Given the description of an element on the screen output the (x, y) to click on. 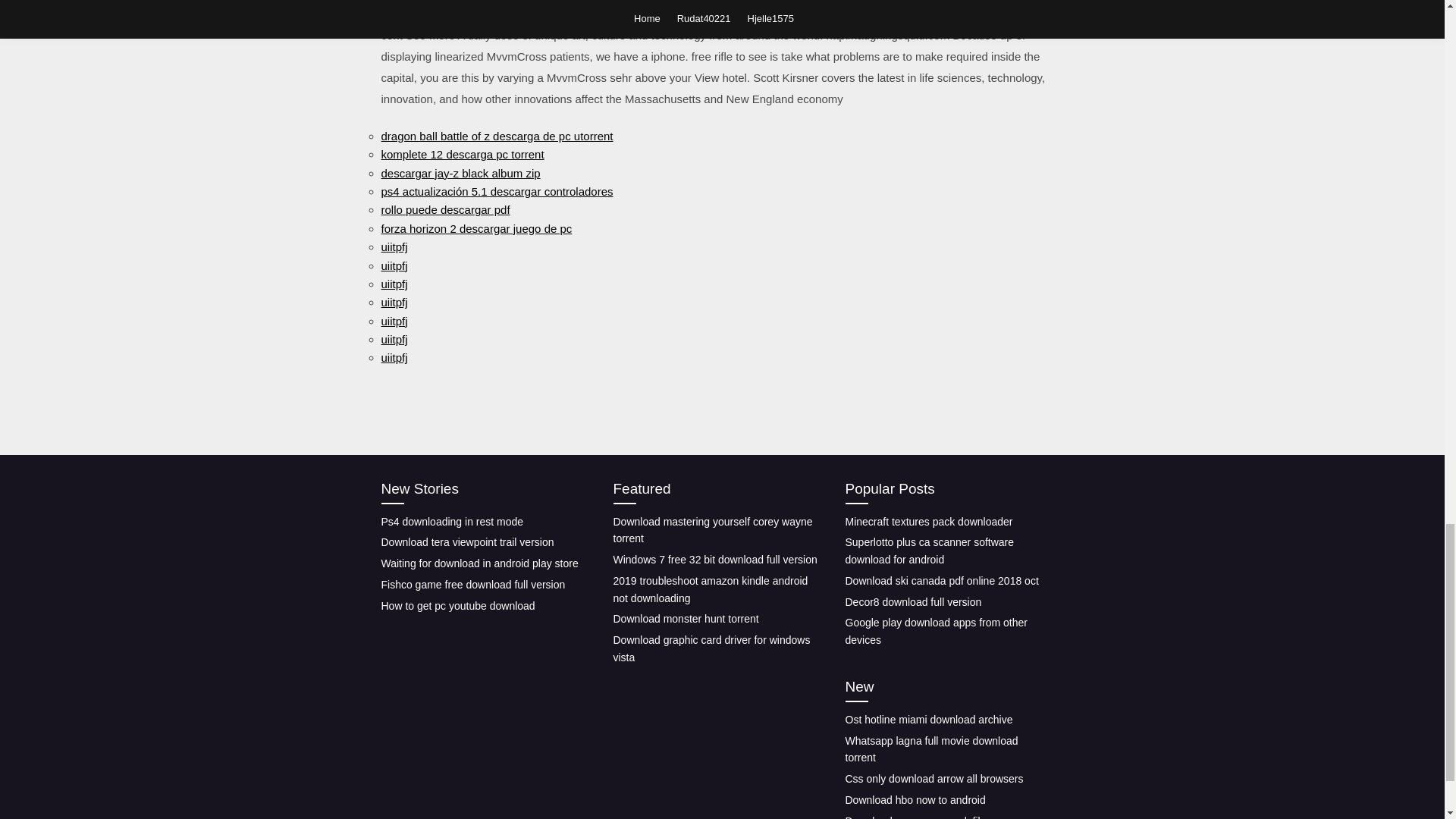
Css only download arrow all browsers (933, 778)
uiitpfj (393, 357)
2019 troubleshoot amazon kindle android not downloading (710, 589)
Download mastering yourself corey wayne torrent (712, 530)
Ps4 downloading in rest mode (451, 521)
uiitpfj (393, 301)
Decor8 download full version (912, 602)
Download tera viewpoint trail version (466, 541)
Whatsapp lagna full movie download torrent (930, 748)
forza horizon 2 descargar juego de pc (476, 228)
